Given the description of an element on the screen output the (x, y) to click on. 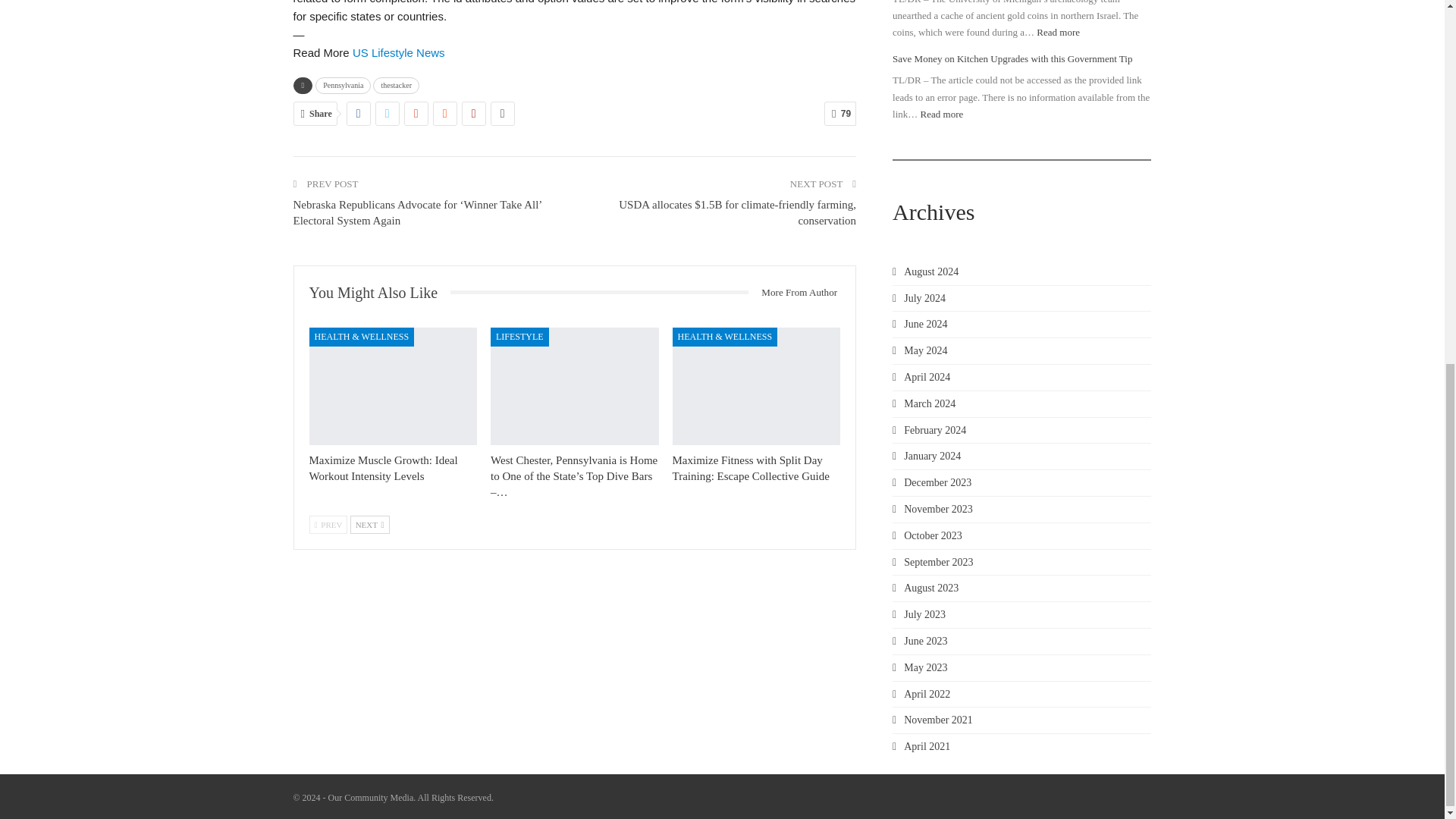
Previous (327, 524)
Pennsylvania (343, 85)
Next (370, 524)
Maximize Muscle Growth: Ideal Workout Intensity Levels (383, 468)
US Lifestyle News (398, 51)
thestacker (395, 85)
Maximize Muscle Growth: Ideal Workout Intensity Levels (392, 386)
